Given the description of an element on the screen output the (x, y) to click on. 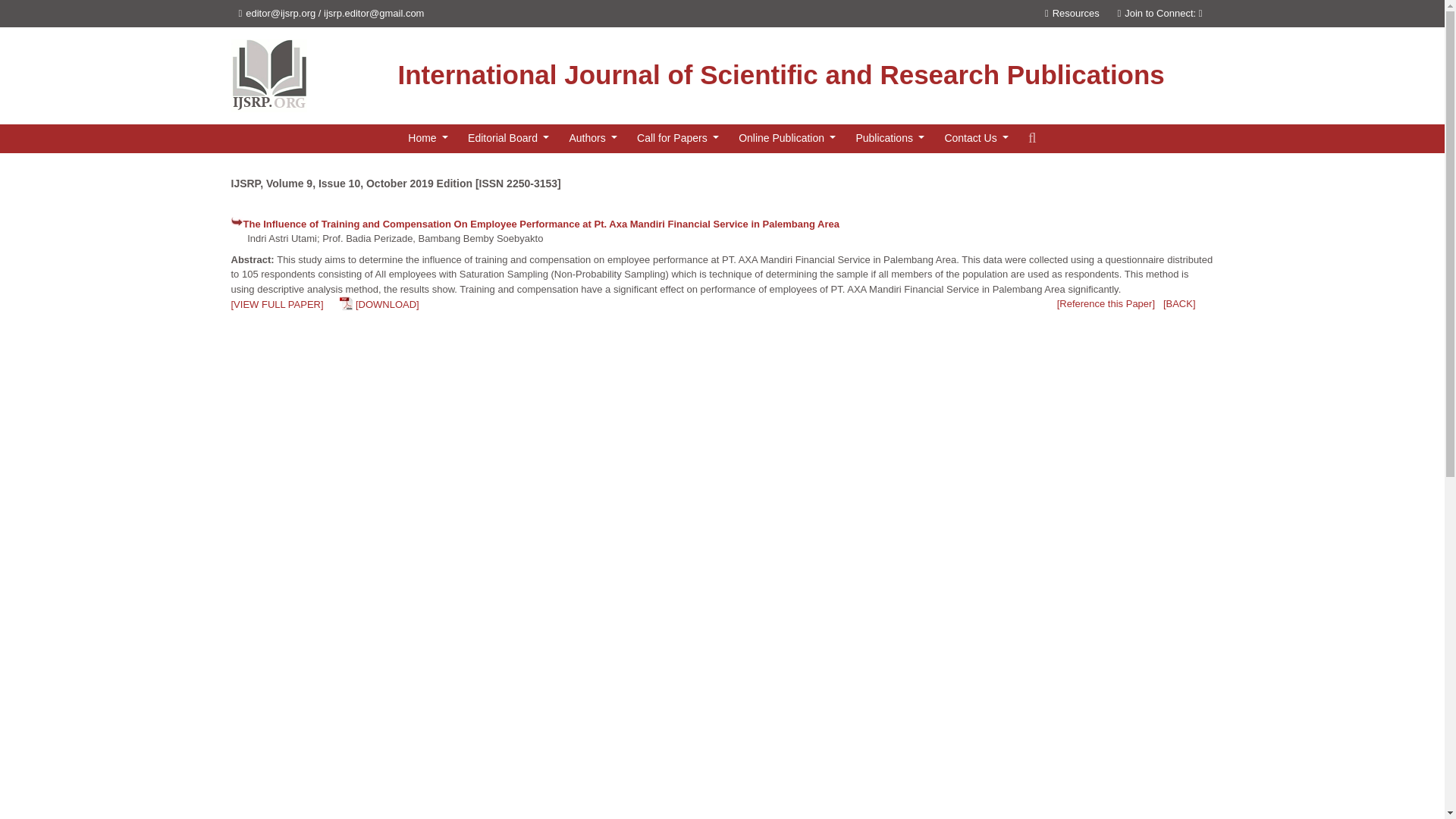
Join to Connect: (1164, 12)
Authors (592, 138)
Call for Papers (677, 138)
Online Publication (786, 138)
Editorial Board (507, 138)
Resources (1072, 12)
Publications (889, 138)
Home (427, 138)
